Given the description of an element on the screen output the (x, y) to click on. 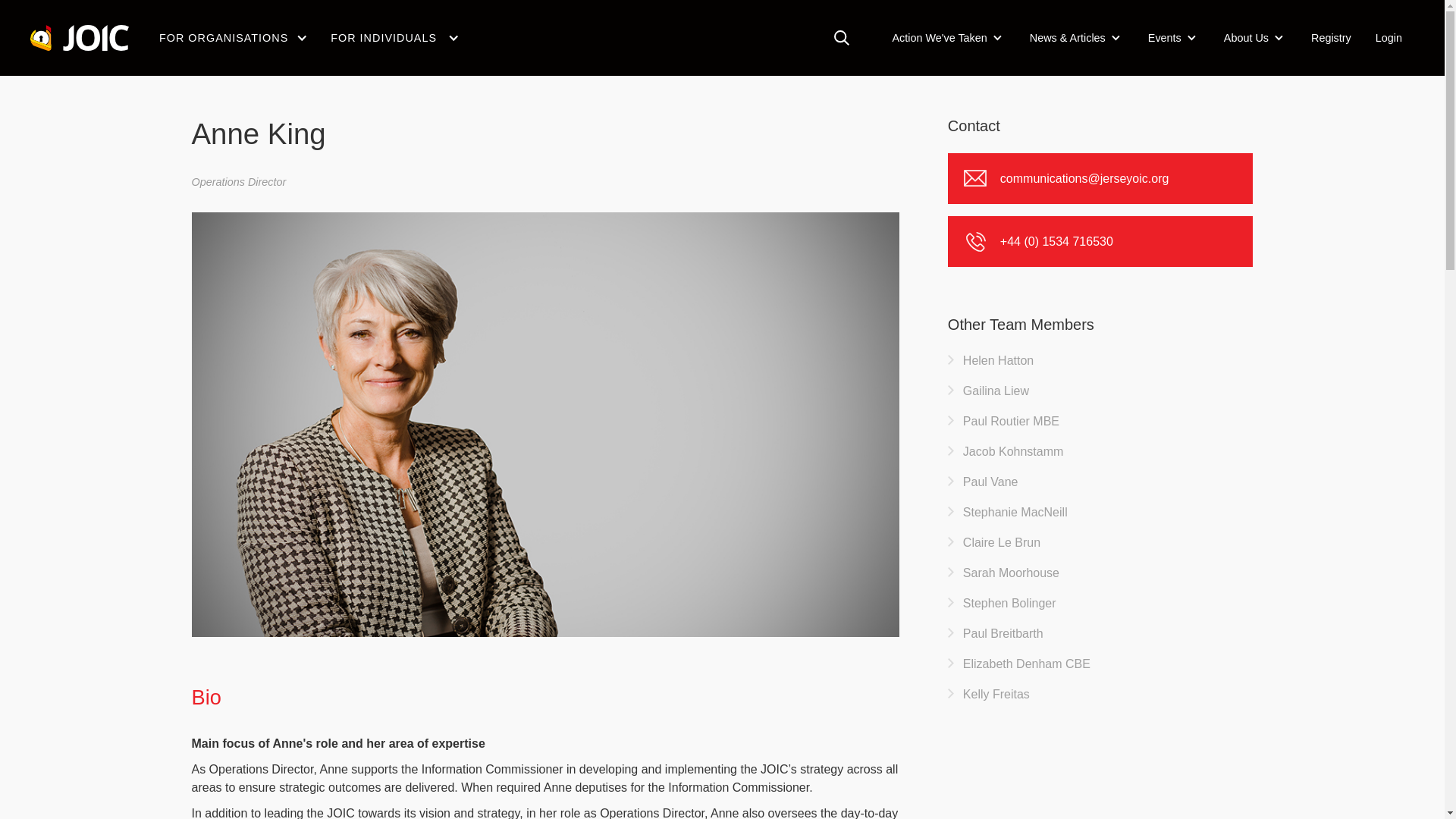
Home (204, 33)
Team (265, 33)
FOR INDIVIDUALS (383, 37)
Anne King (336, 33)
Login (1387, 37)
FOR ORGANISATIONS (223, 37)
Registry (1330, 37)
